Given the description of an element on the screen output the (x, y) to click on. 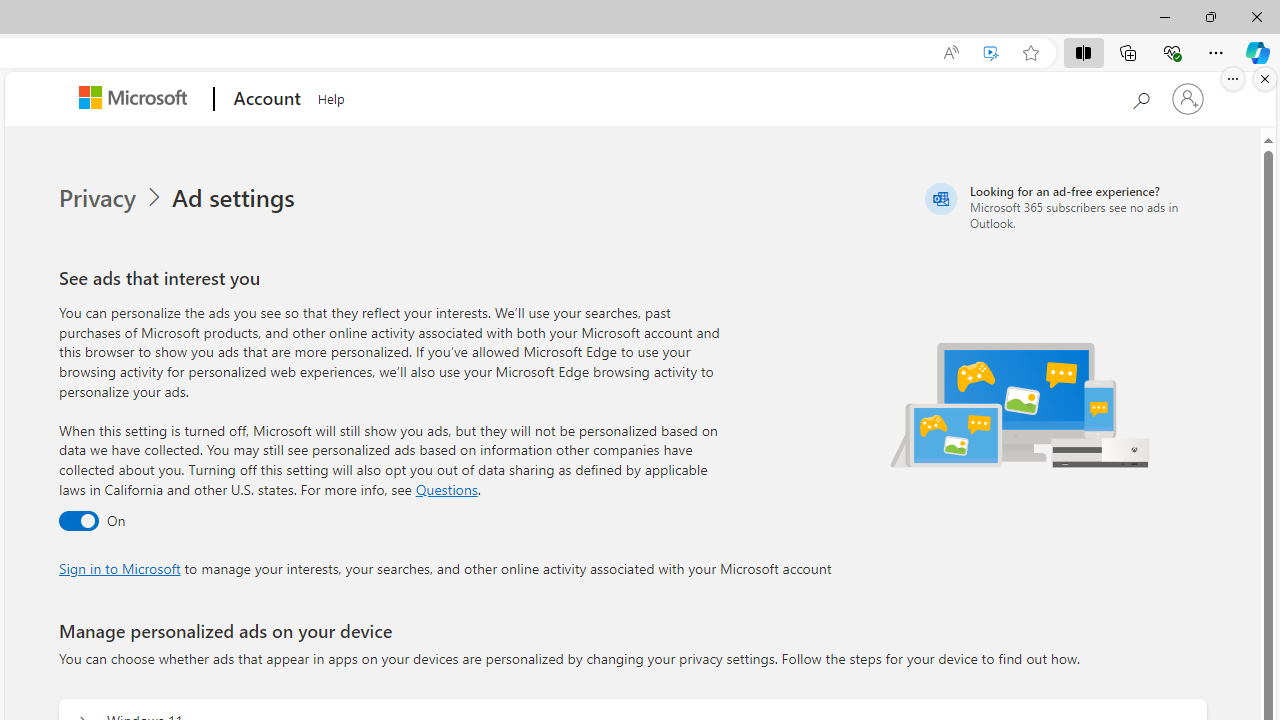
Help (331, 96)
Illustration of multiple devices (1021, 403)
Ad settings toggle (78, 521)
Looking for an ad-free experience? (1063, 206)
Microsoft (136, 99)
Enhance video (991, 53)
Sign in to your account (1188, 98)
